Given the description of an element on the screen output the (x, y) to click on. 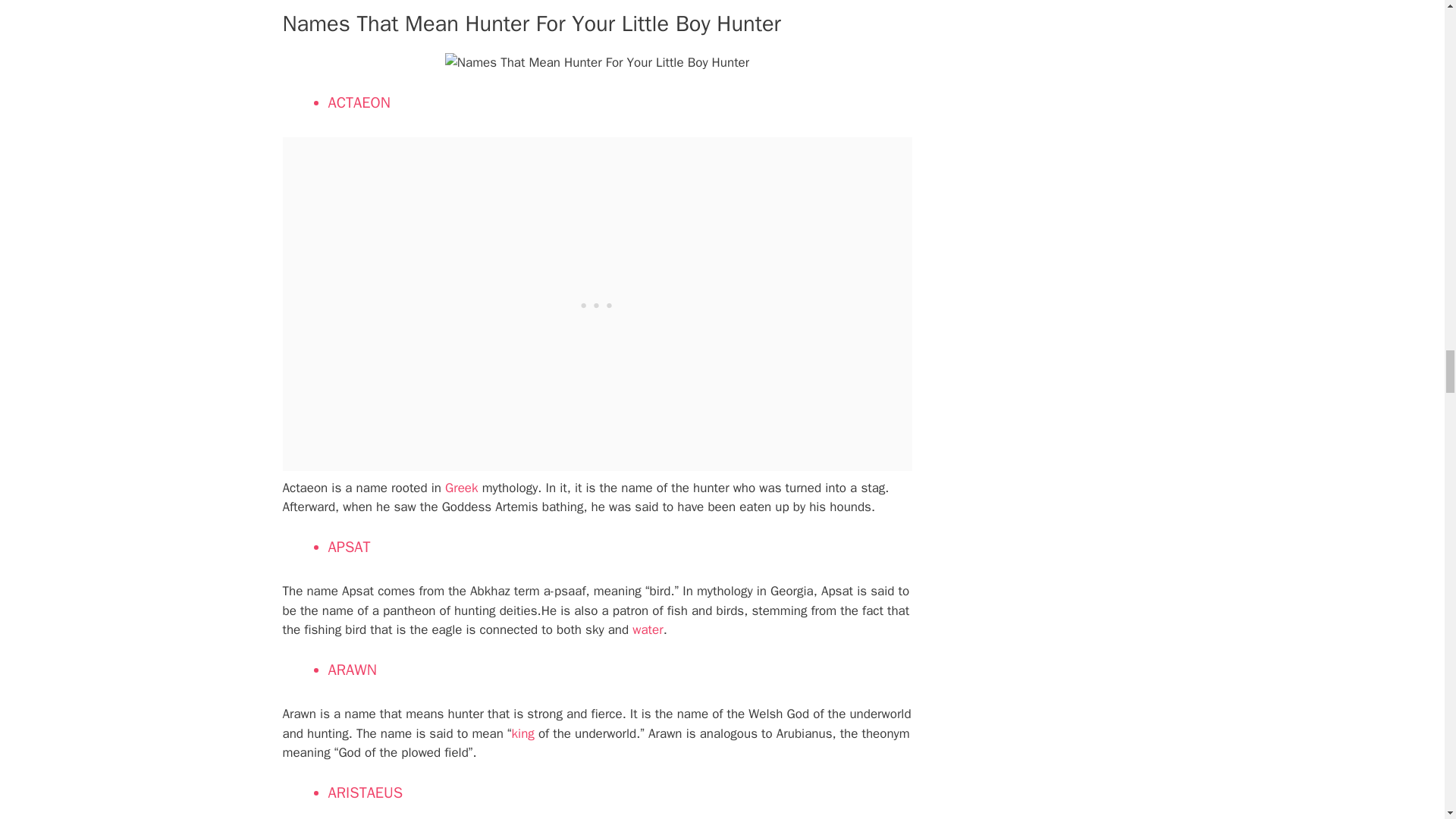
king (523, 733)
water (646, 629)
Greek (461, 487)
